Given the description of an element on the screen output the (x, y) to click on. 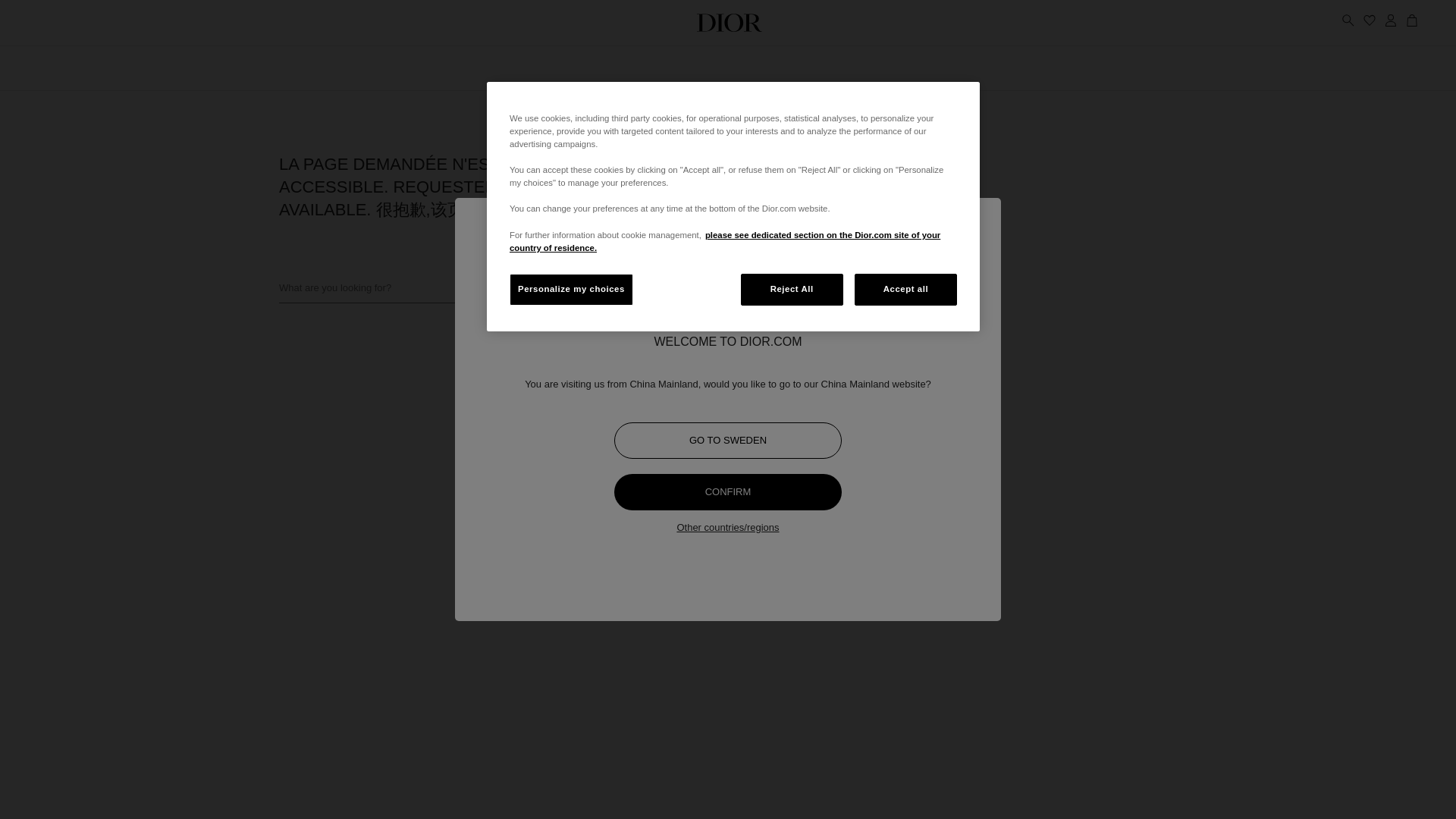
GO TO SWEDEN (727, 440)
Personalize my choices (571, 289)
Reject All (792, 289)
Accept all (905, 289)
CONFIRM (727, 492)
